Given the description of an element on the screen output the (x, y) to click on. 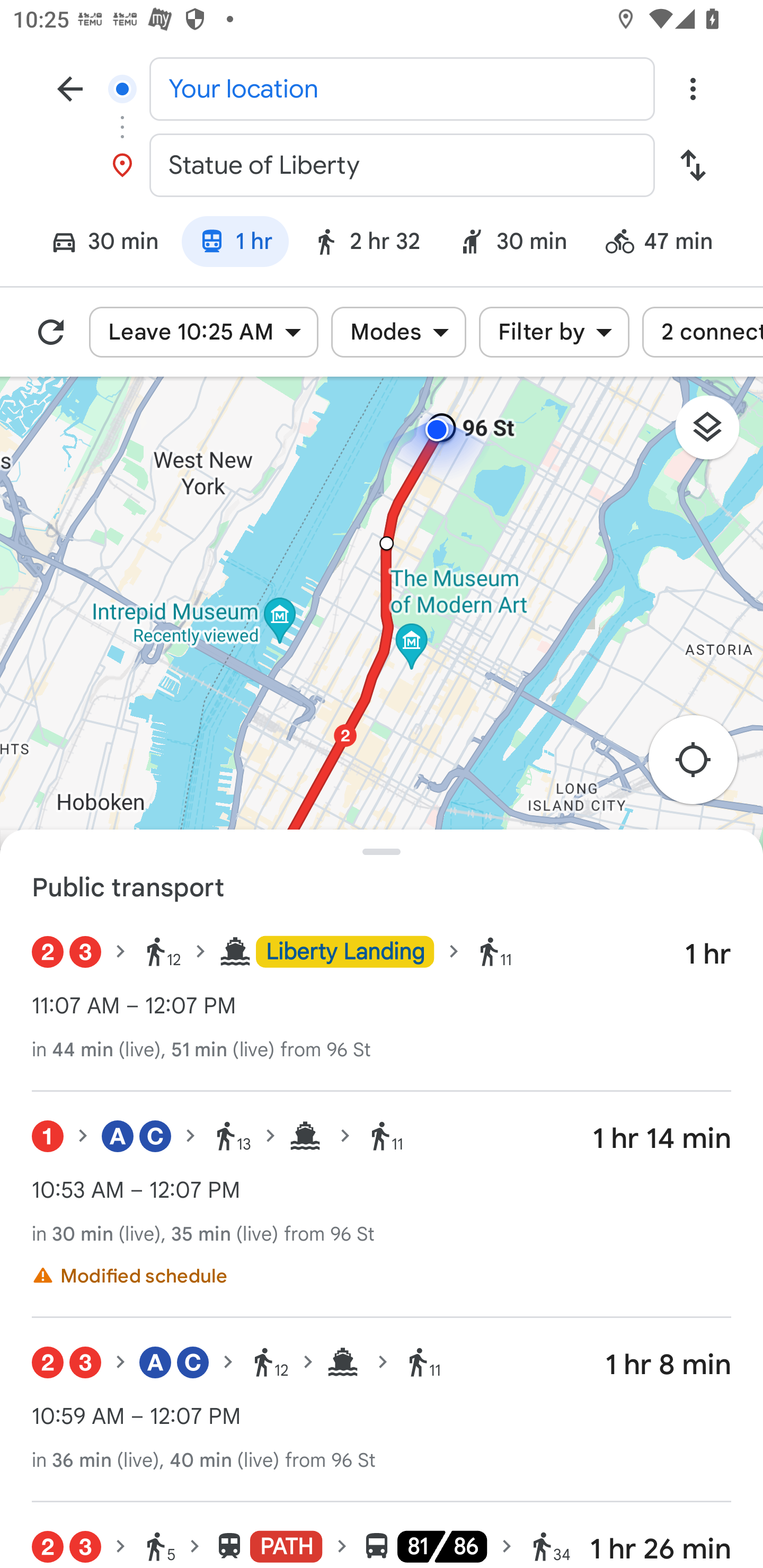
Navigate up (70, 88)
Your location Start location, Your location (381, 88)
Overflow menu (692, 88)
Statue of Liberty Destination, Statue of Liberty (381, 165)
Swap start and destination (692, 165)
Driving mode: 30 min 30 min (95, 244)
Walking mode: 2 hr 32 2 hr 32 (365, 244)
Ride service: 30 min 30 min (512, 244)
Bicycling mode: 47 min 47 min (667, 244)
Refresh (50, 332)
Leave 10:25 AM Leave 10:25 AM Leave 10:25 AM (203, 332)
Modes Modes Modes (398, 332)
Filter by Filter by Filter by (554, 332)
Layers (716, 433)
Re-center map to your location (702, 764)
